Given the description of an element on the screen output the (x, y) to click on. 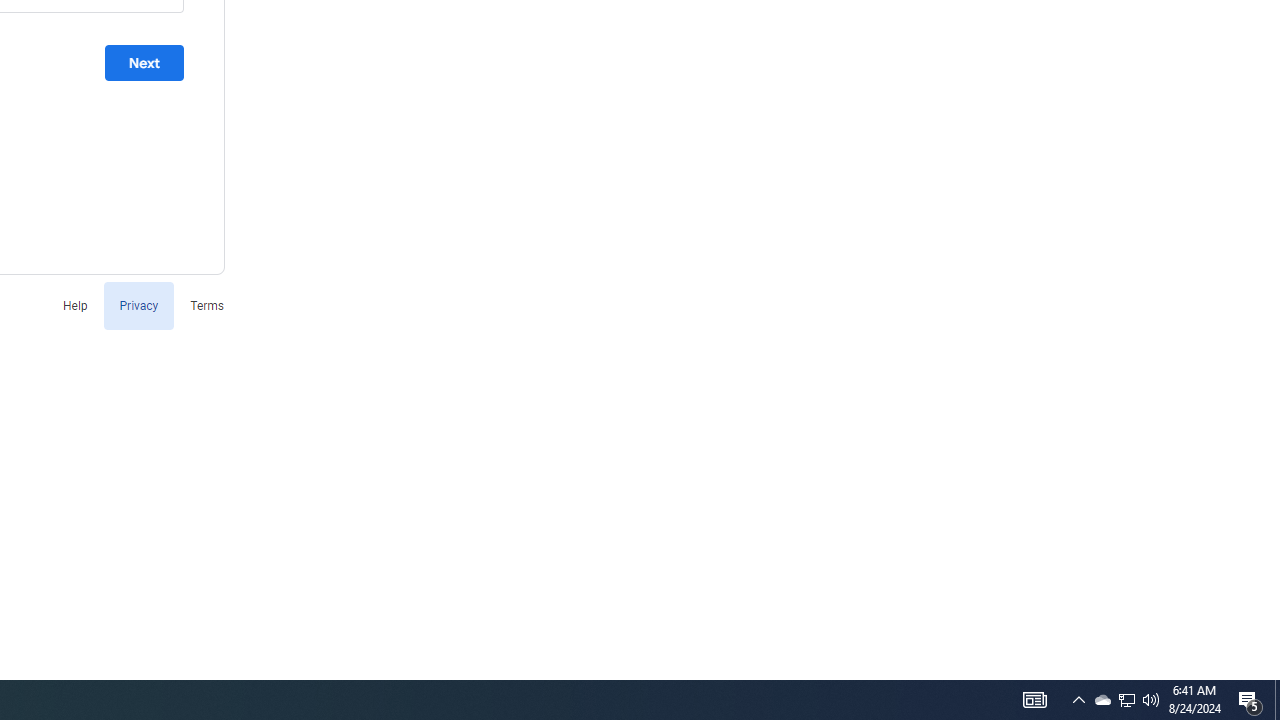
Help (74, 304)
Next (143, 63)
Privacy (138, 304)
Terms (207, 304)
